Given the description of an element on the screen output the (x, y) to click on. 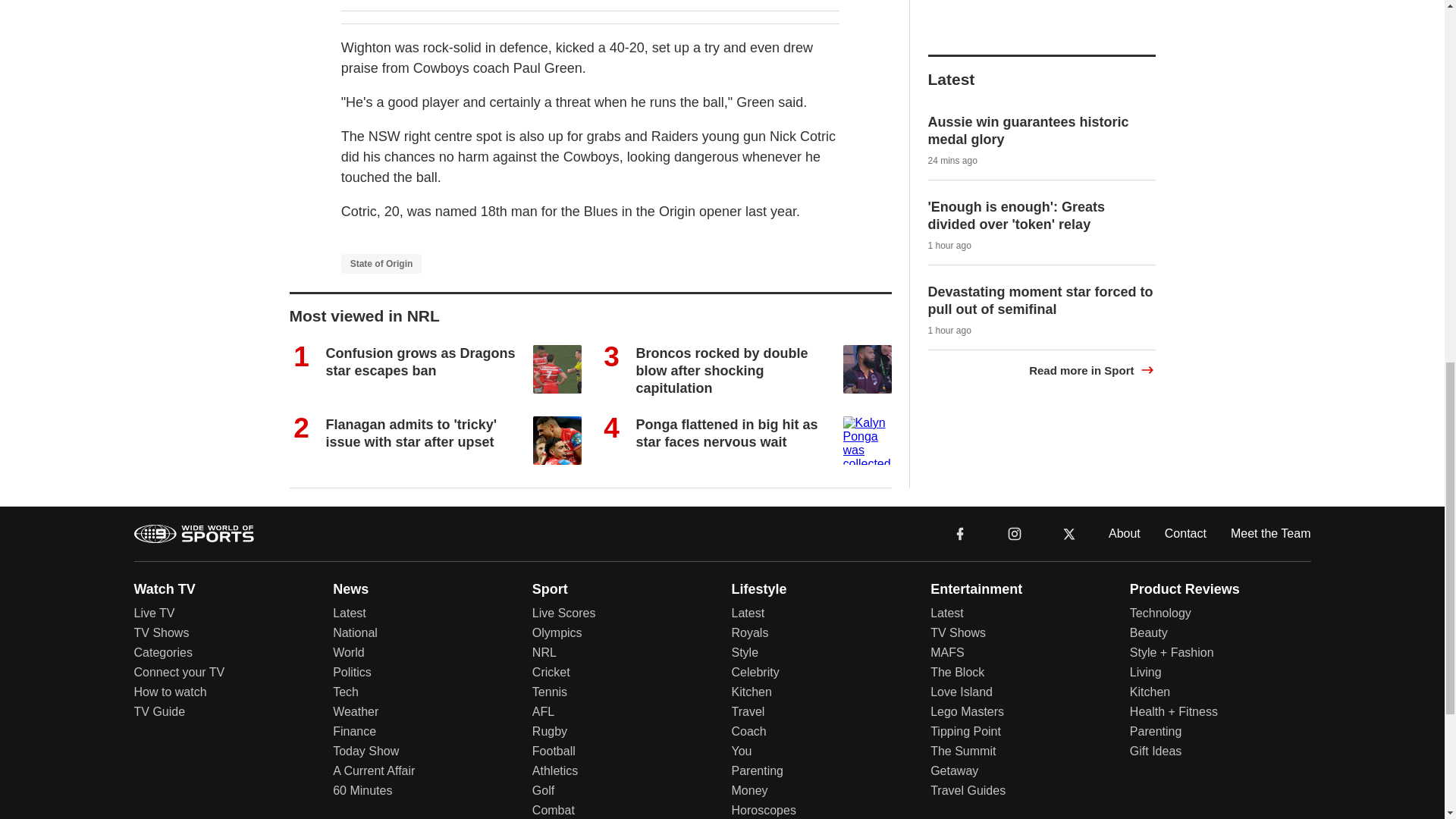
x (1069, 533)
facebook (960, 533)
Broncos rocked by double blow after shocking capitulation (721, 370)
facebook (959, 532)
Flanagan admits to 'tricky' issue with star after upset (411, 432)
Ponga flattened in big hit as star faces nervous wait (725, 432)
instagram (1013, 532)
Confusion grows as Dragons star escapes ban (420, 361)
facebook (959, 532)
instagram (1014, 533)
x (1069, 532)
instagram (1013, 532)
State of Origin (381, 263)
